Given the description of an element on the screen output the (x, y) to click on. 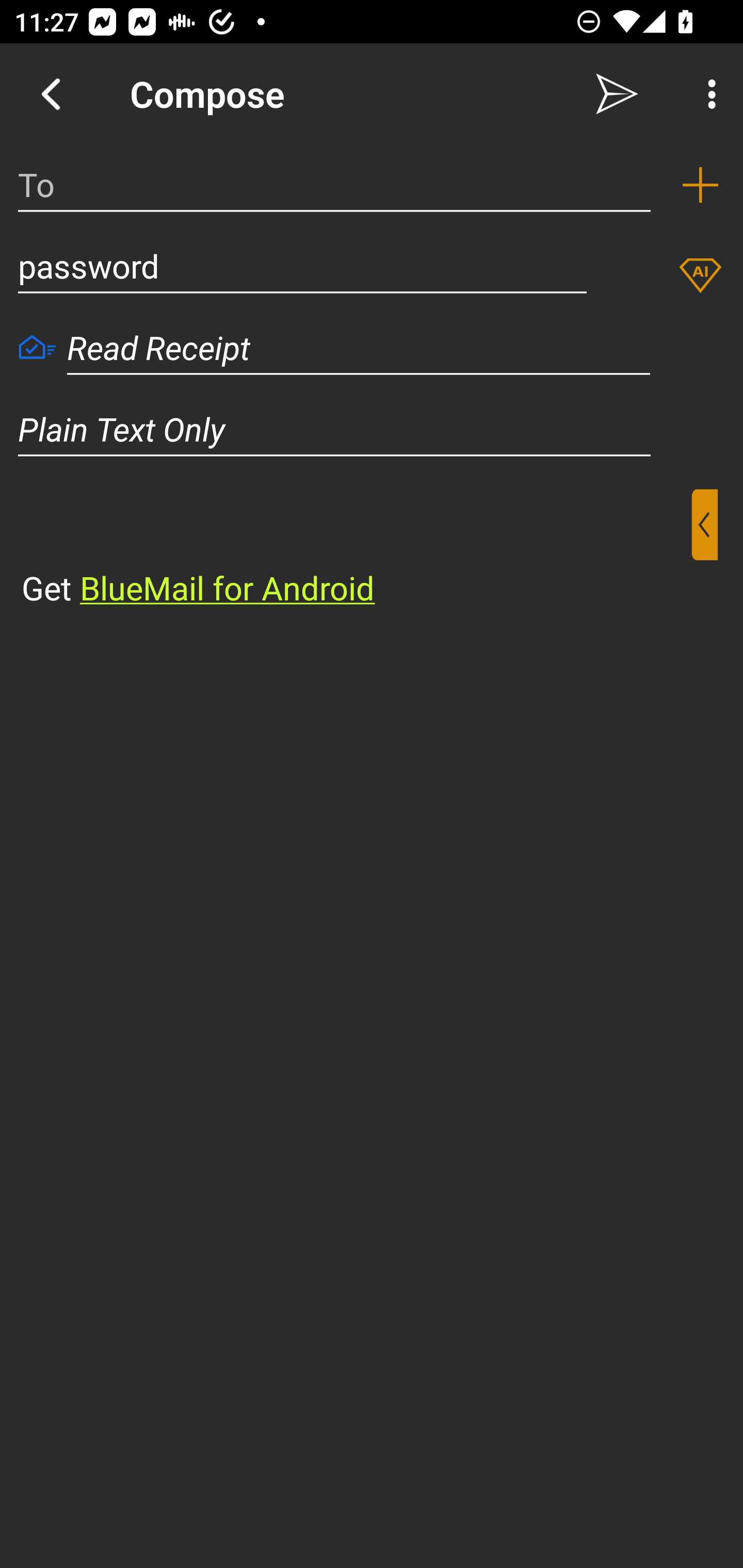
Navigate up (50, 93)
Send (616, 93)
More Options (706, 93)
To (334, 184)
Add recipient (To) (699, 184)
password (302, 266)
Read Receipt (358, 347)
Read Receipt (37, 348)
Plain Text Only (371, 429)


⁣Get BlueMail for Android ​ (355, 549)
